Given the description of an element on the screen output the (x, y) to click on. 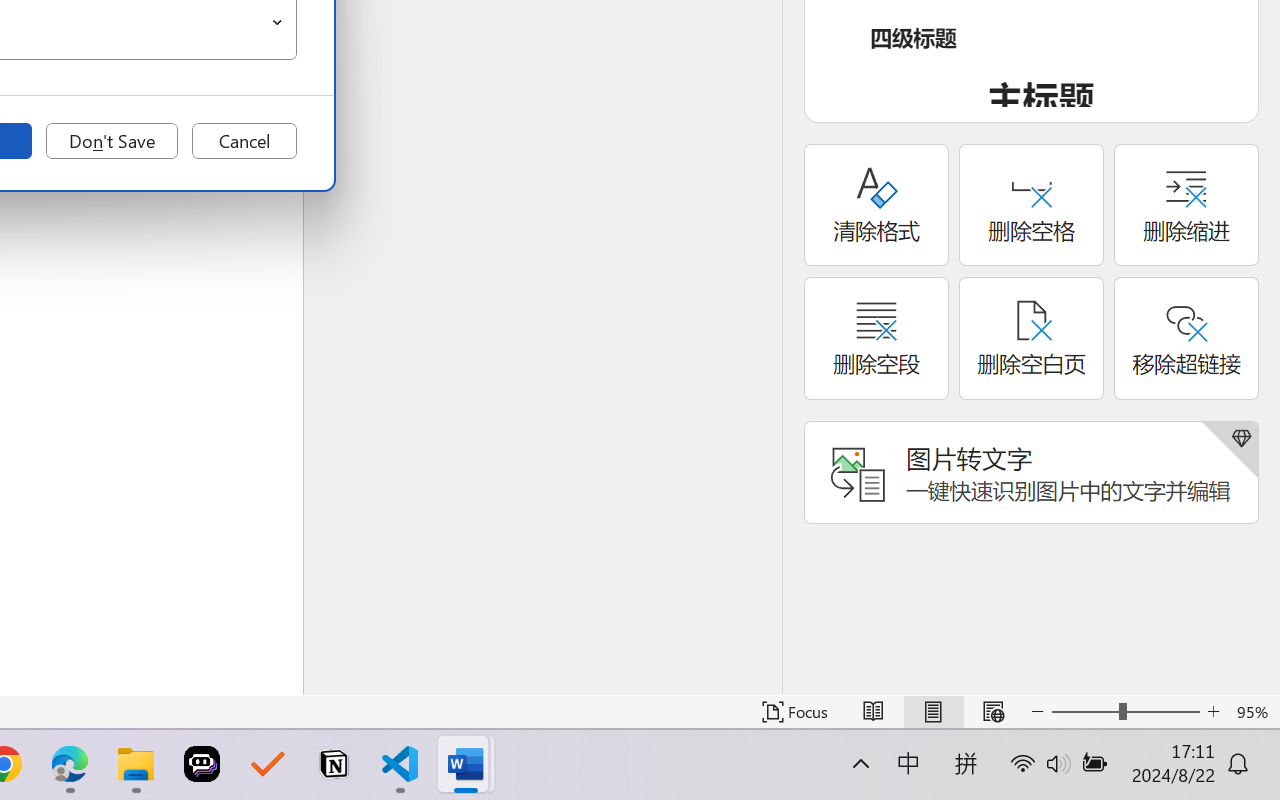
Zoom 95% (1253, 712)
